Given the description of an element on the screen output the (x, y) to click on. 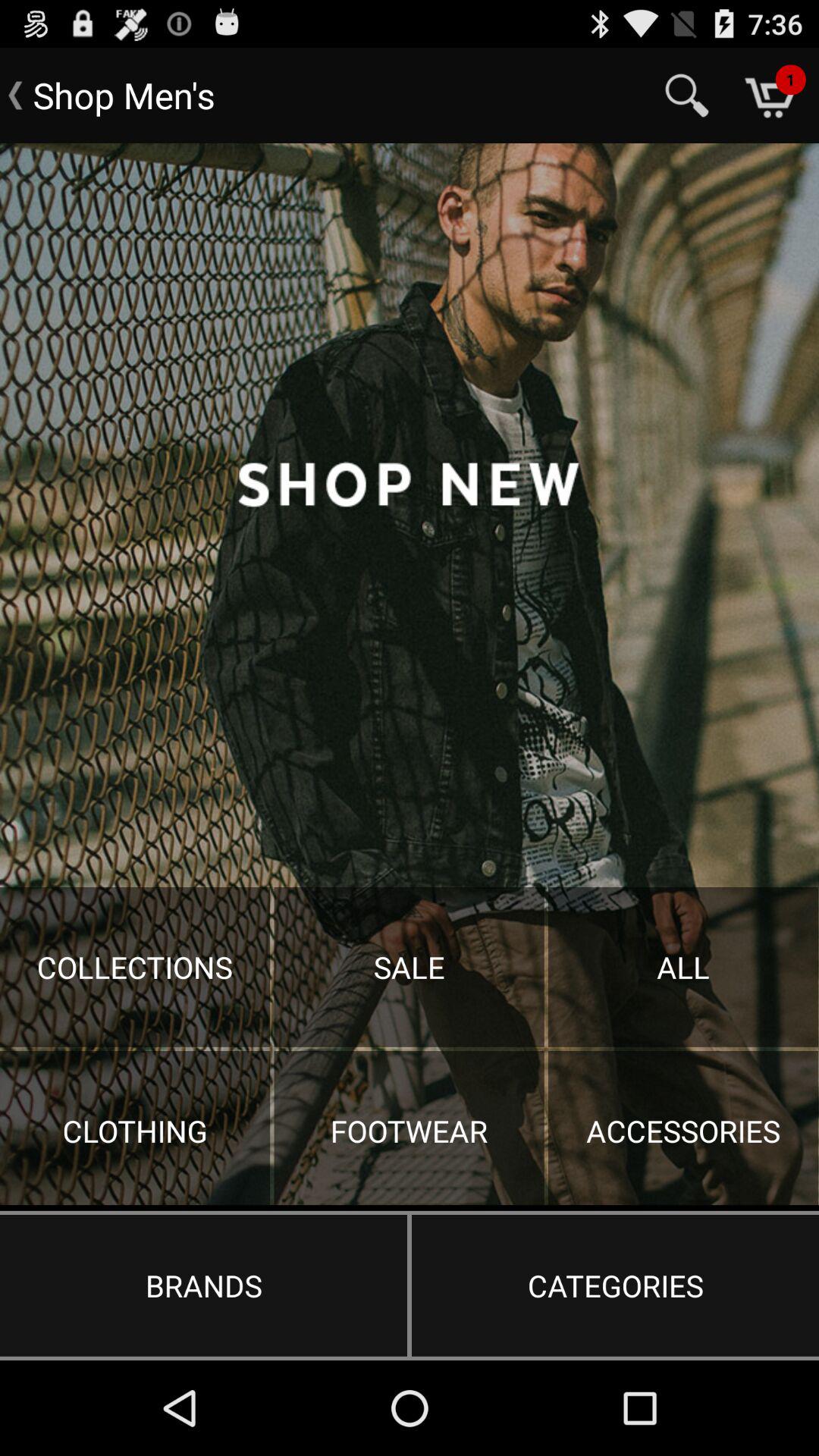
choose the item to the right of shop men's app (686, 95)
